Given the description of an element on the screen output the (x, y) to click on. 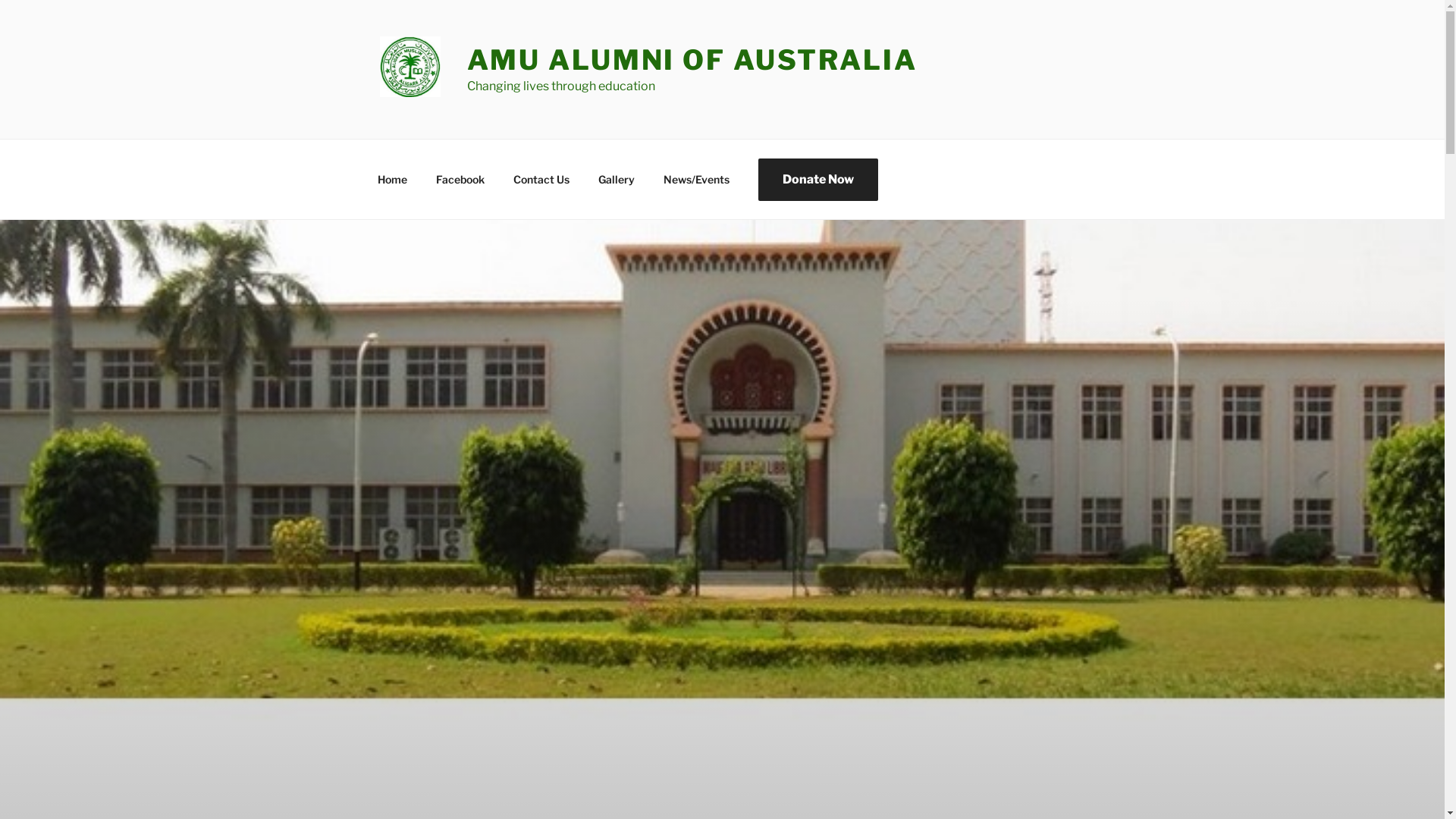
Home Element type: text (392, 178)
Contact Us Element type: text (541, 178)
AMU ALUMNI OF AUSTRALIA Element type: text (692, 59)
Donate Now Element type: text (817, 178)
News/Events Element type: text (696, 178)
Facebook Element type: text (460, 178)
Skip to content Element type: text (0, 0)
Donate Now Element type: text (818, 178)
Gallery Element type: text (616, 178)
